Given the description of an element on the screen output the (x, y) to click on. 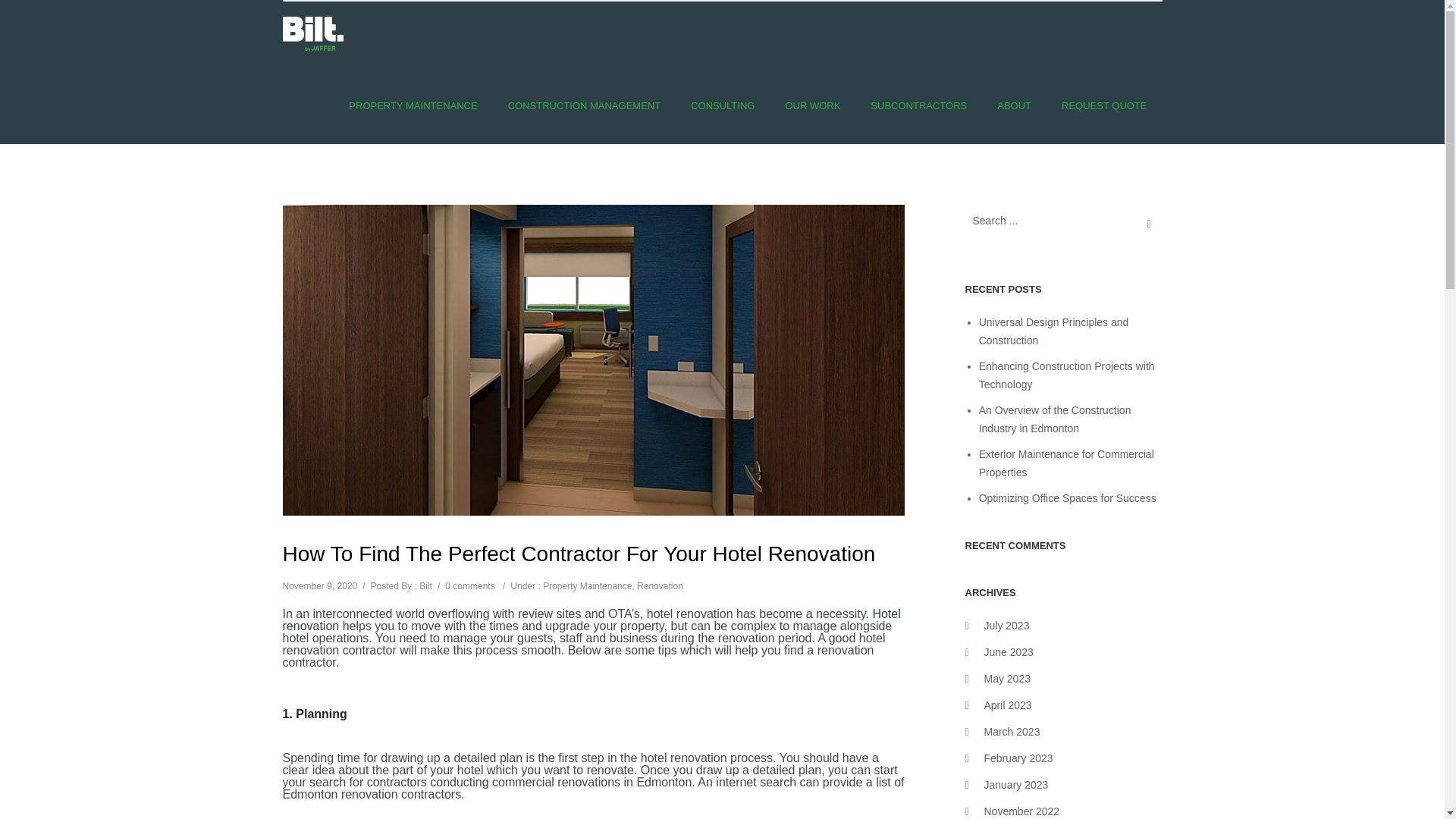
Construction Management (585, 105)
ABOUT (1013, 105)
About (1013, 105)
Hotel renovation (590, 619)
Request Quote (1103, 105)
REQUEST QUOTE (1103, 105)
Subcontractors (918, 105)
CONSULTING (722, 105)
Renovation (659, 585)
CONSTRUCTION MANAGEMENT (585, 105)
PROPERTY MAINTENANCE (412, 105)
Consulting (722, 105)
Property Maintenance (412, 105)
0 comments (470, 585)
SUBCONTRACTORS (918, 105)
